Given the description of an element on the screen output the (x, y) to click on. 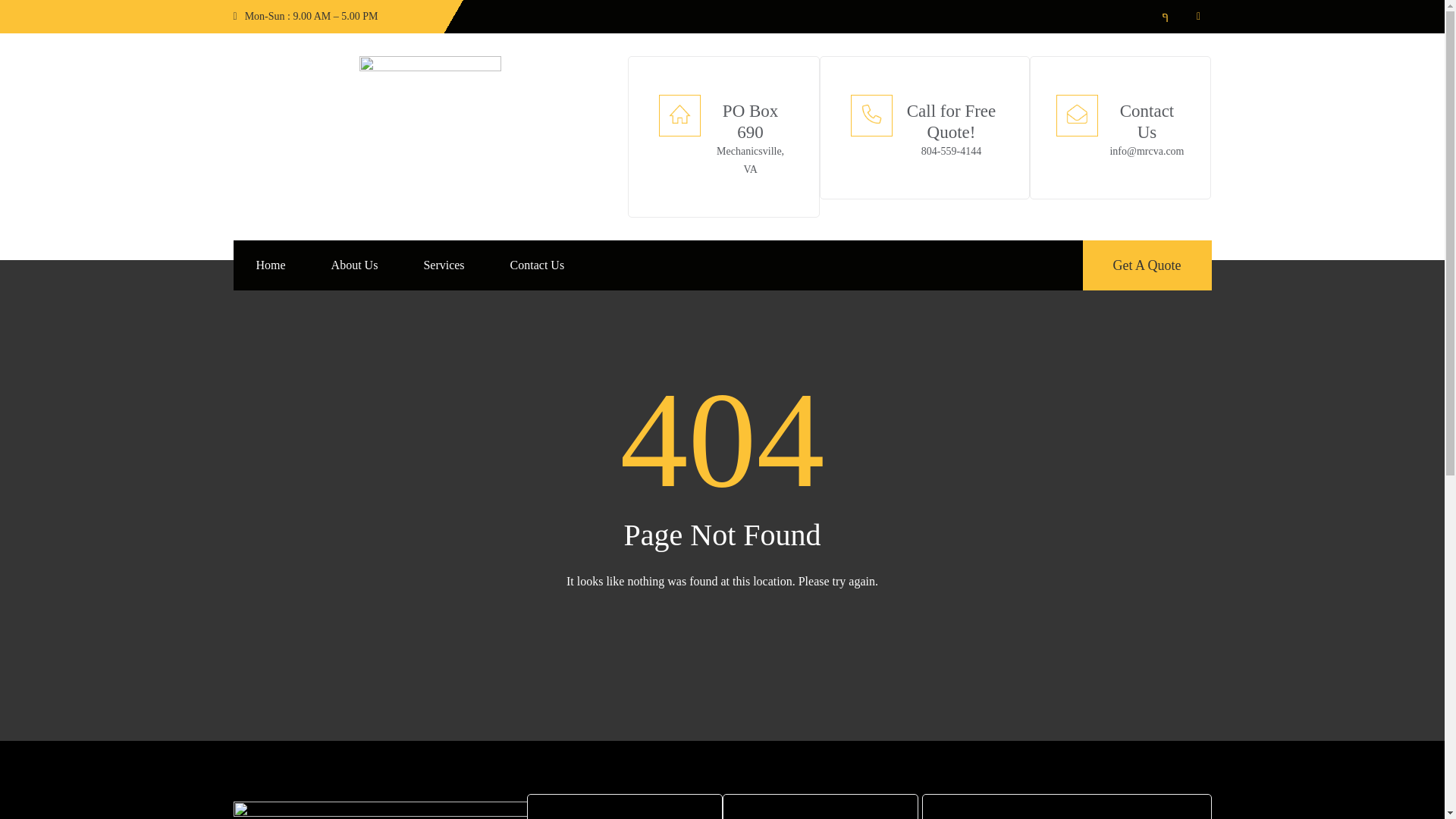
Services (443, 265)
Get A Quote (1147, 265)
Contact Us (537, 265)
About Us (354, 265)
Home (270, 265)
